Given the description of an element on the screen output the (x, y) to click on. 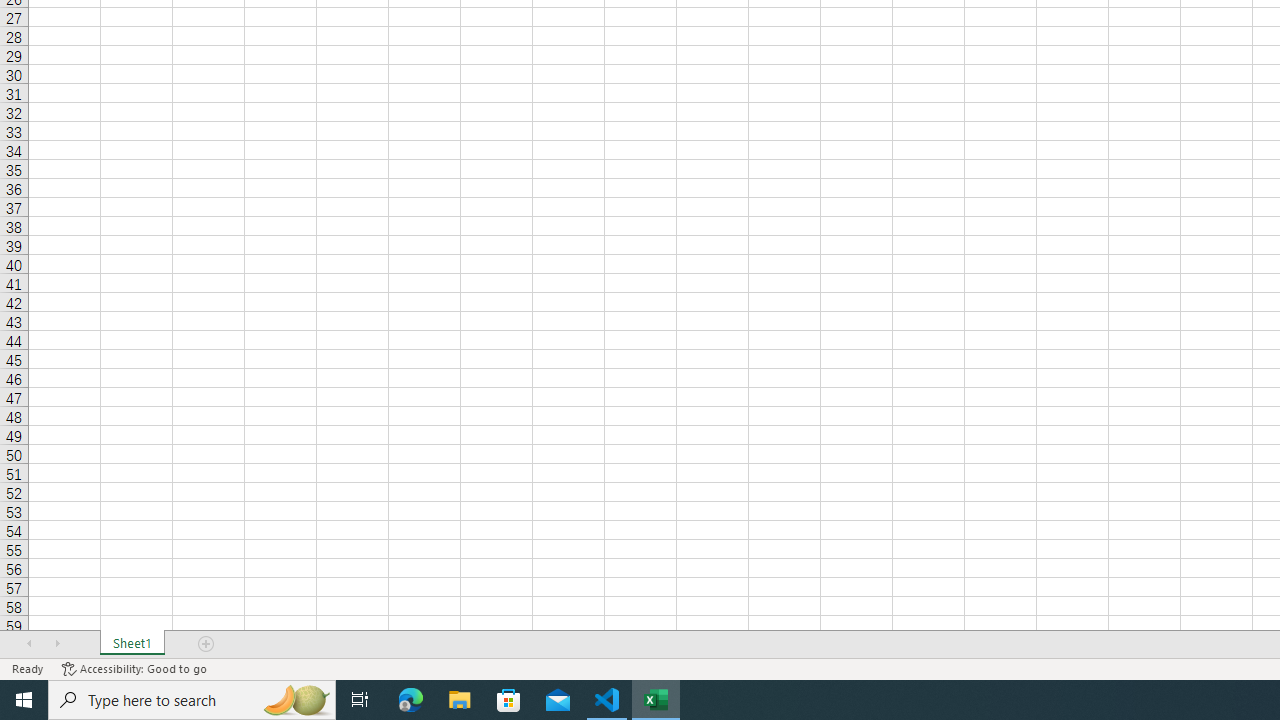
Scroll Left (29, 644)
Add Sheet (207, 644)
Scroll Right (57, 644)
Accessibility Checker Accessibility: Good to go (134, 668)
Sheet1 (132, 644)
